Given the description of an element on the screen output the (x, y) to click on. 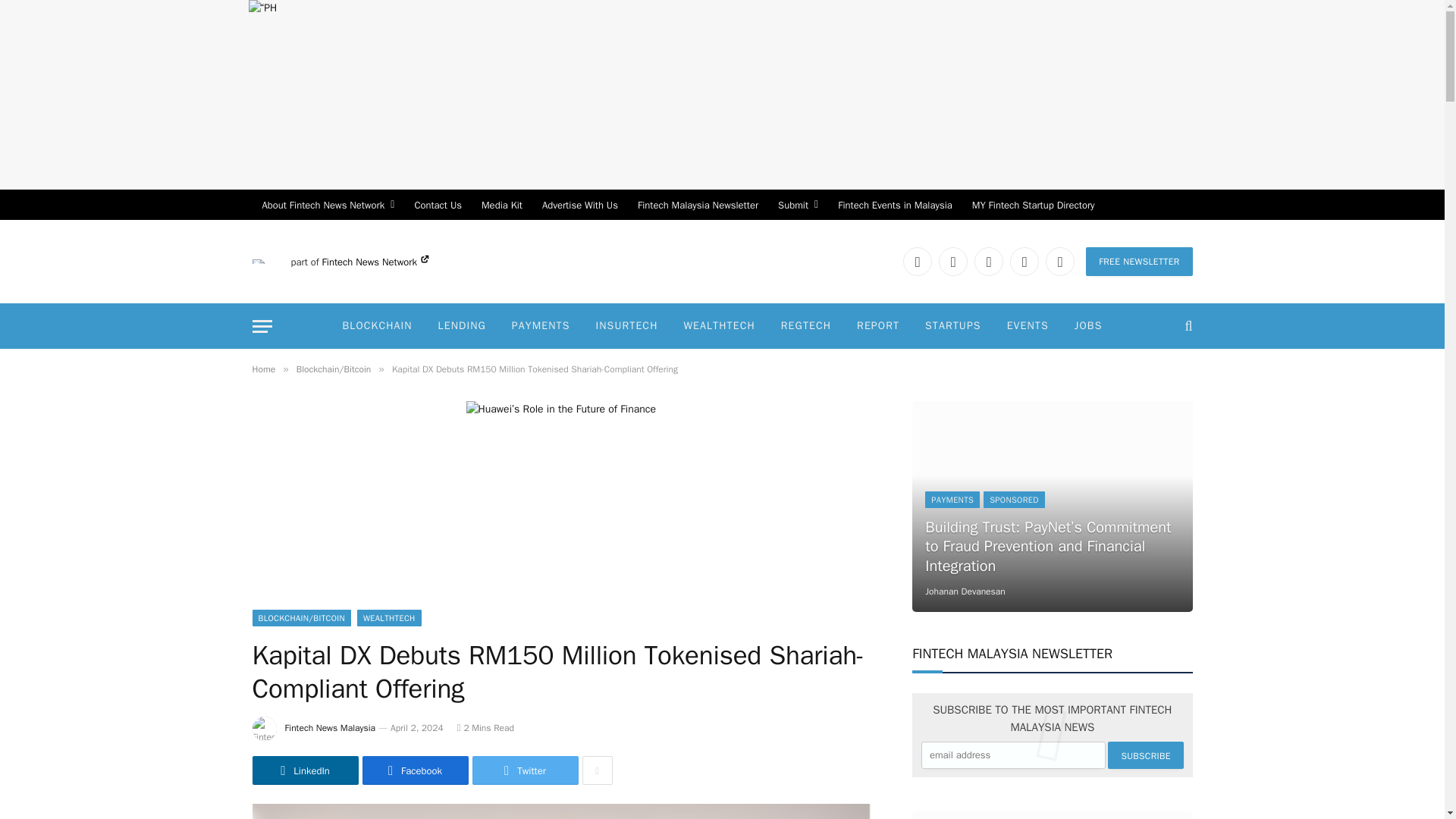
Subscribe (1145, 755)
Share on LinkedIn (304, 769)
Contact Us (437, 204)
Fintech News Network (375, 261)
MY Fintech Startup Directory (1033, 204)
Facebook (953, 261)
Fintech Events in Malaysia (895, 204)
Show More Social Sharing (597, 769)
Fintech Malaysia Newsletter (697, 204)
